Given the description of an element on the screen output the (x, y) to click on. 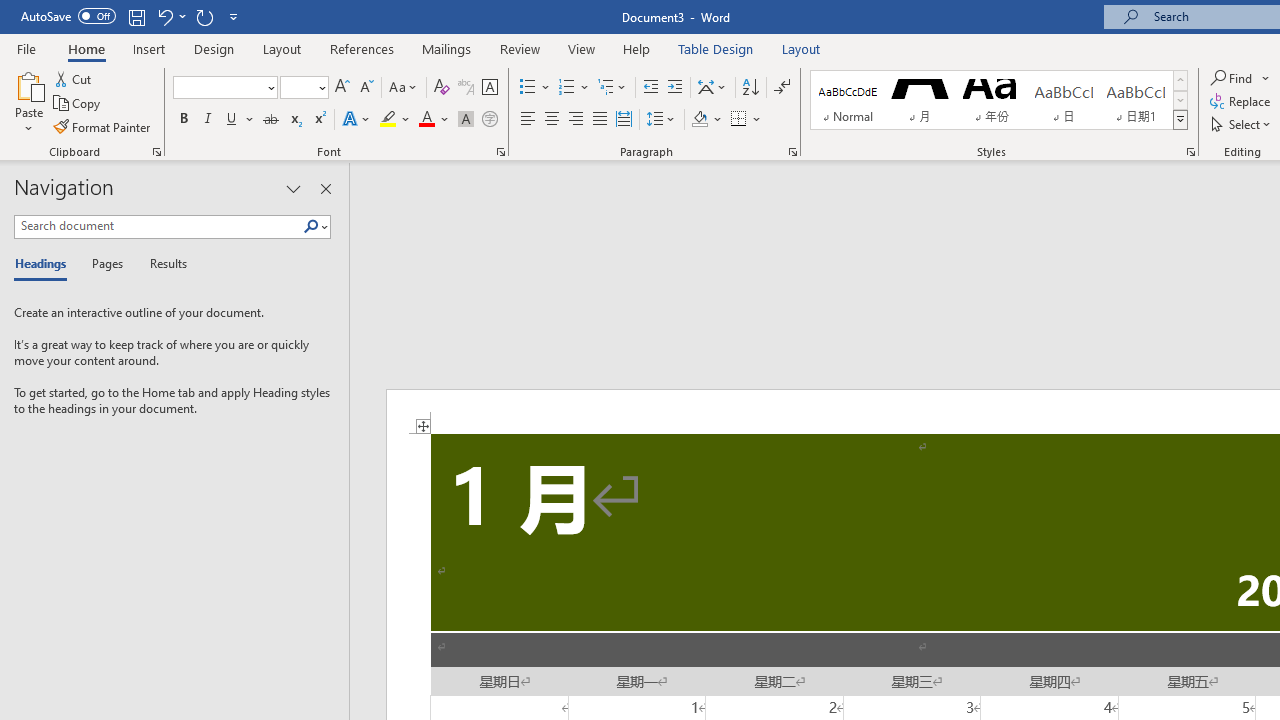
Paste (28, 84)
Align Right (575, 119)
AutoSave (68, 16)
Numbering (573, 87)
Numbering (566, 87)
Bullets (535, 87)
Undo Apply Quick Style (164, 15)
Headings (45, 264)
Replace... (1242, 101)
File Tab (26, 48)
Results (161, 264)
Class: NetUIImage (1181, 119)
Help (637, 48)
Text Highlight Color Yellow (388, 119)
